Given the description of an element on the screen output the (x, y) to click on. 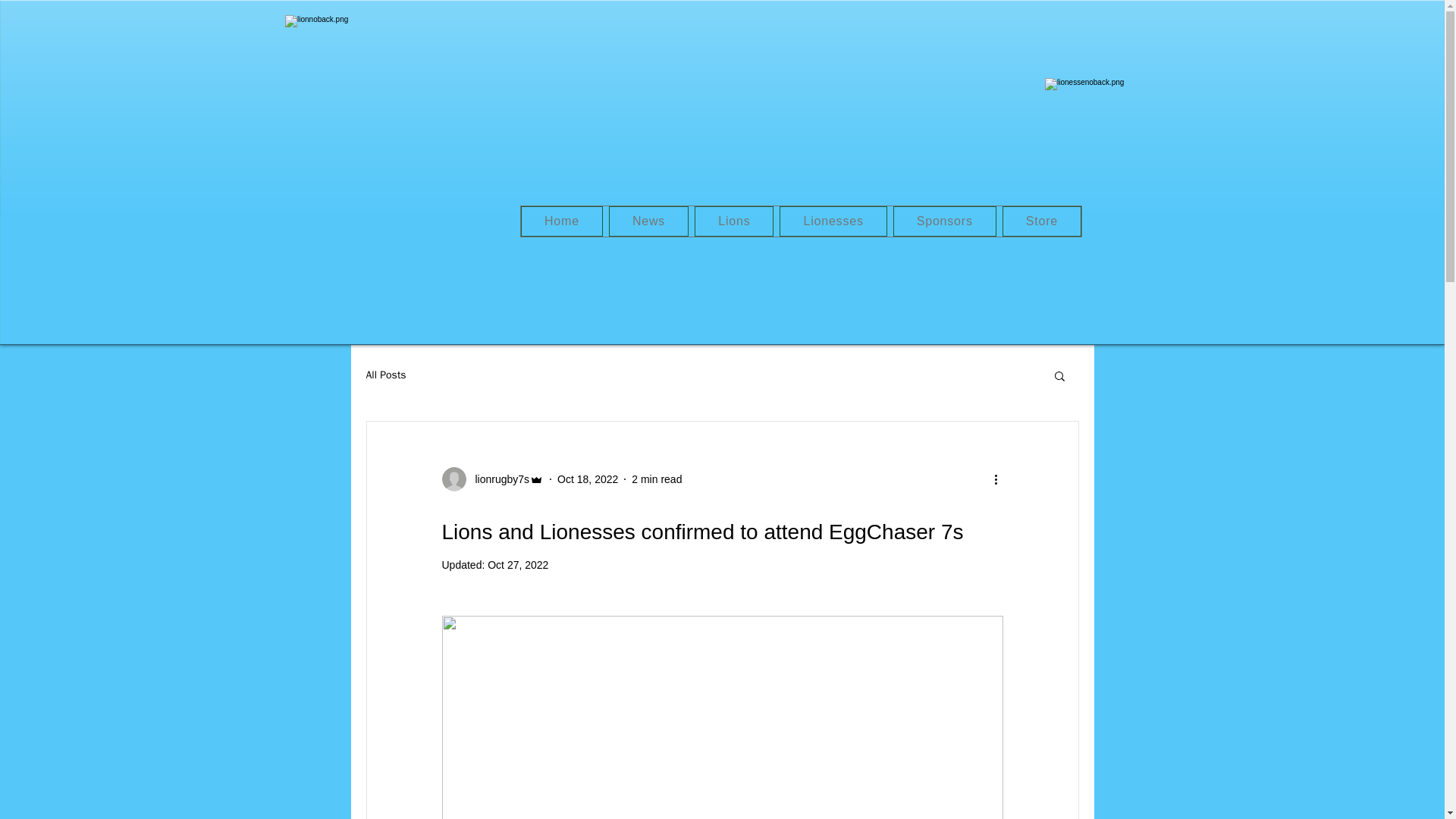
Home (561, 221)
News (648, 221)
Oct 18, 2022 (587, 479)
All Posts (385, 375)
lionrugby7s (497, 479)
Oct 27, 2022 (517, 564)
Lionesses (832, 221)
2 min read (656, 479)
Store (1042, 221)
Lions (733, 221)
lionrugby7s (492, 478)
Sponsors (944, 221)
